Given the description of an element on the screen output the (x, y) to click on. 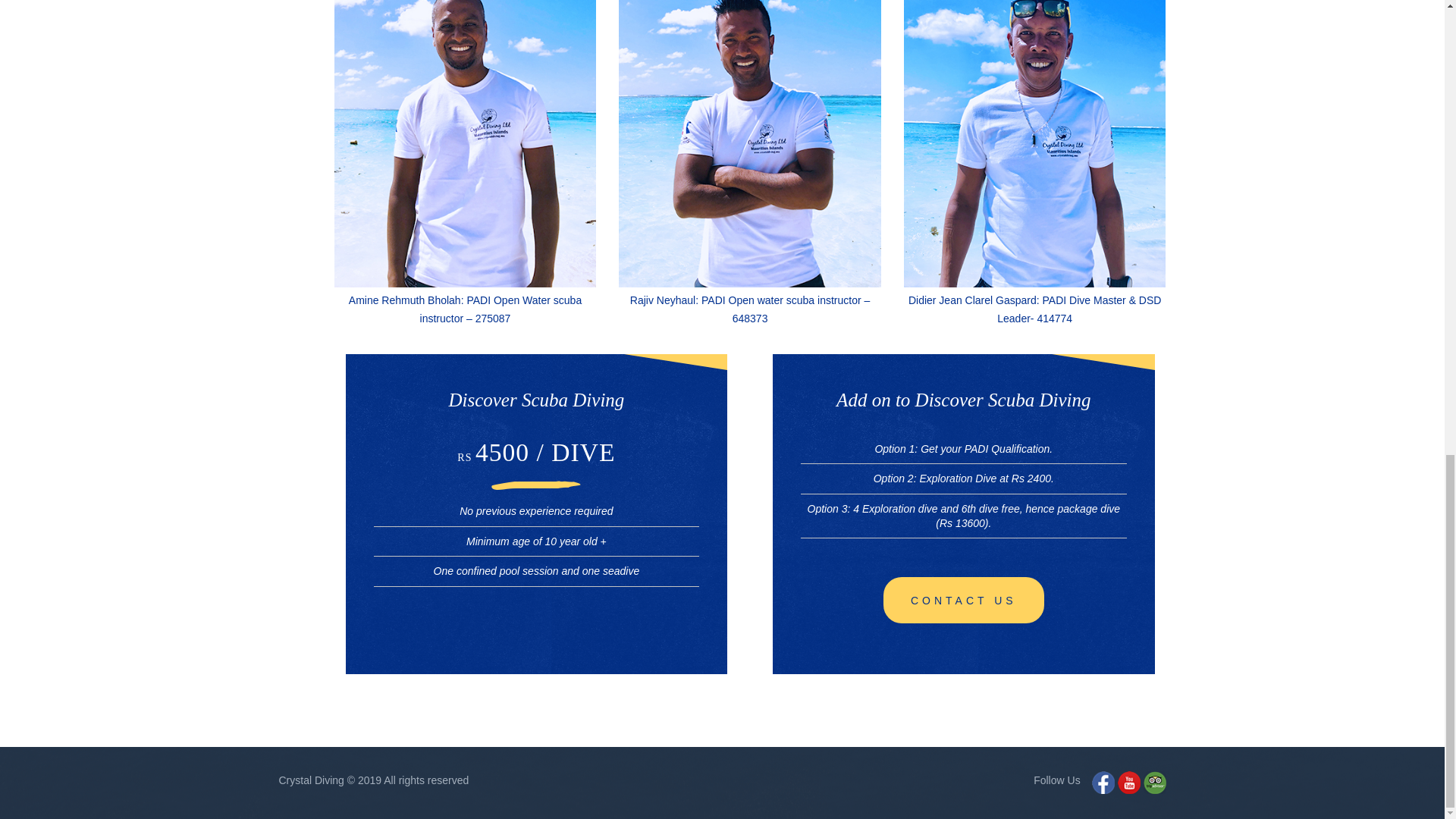
CONTACT US (963, 600)
